Given the description of an element on the screen output the (x, y) to click on. 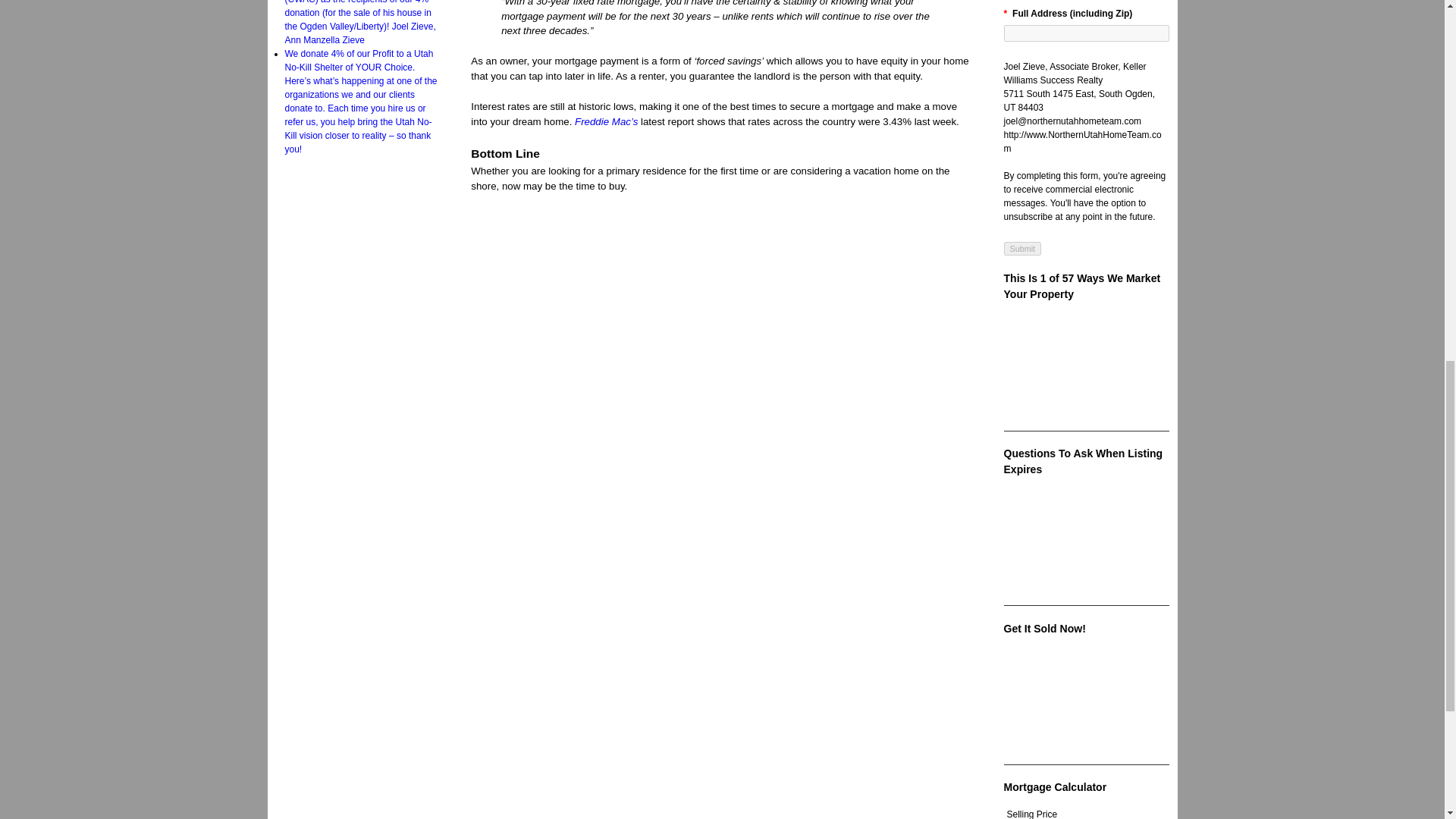
Submit (1023, 248)
